Given the description of an element on the screen output the (x, y) to click on. 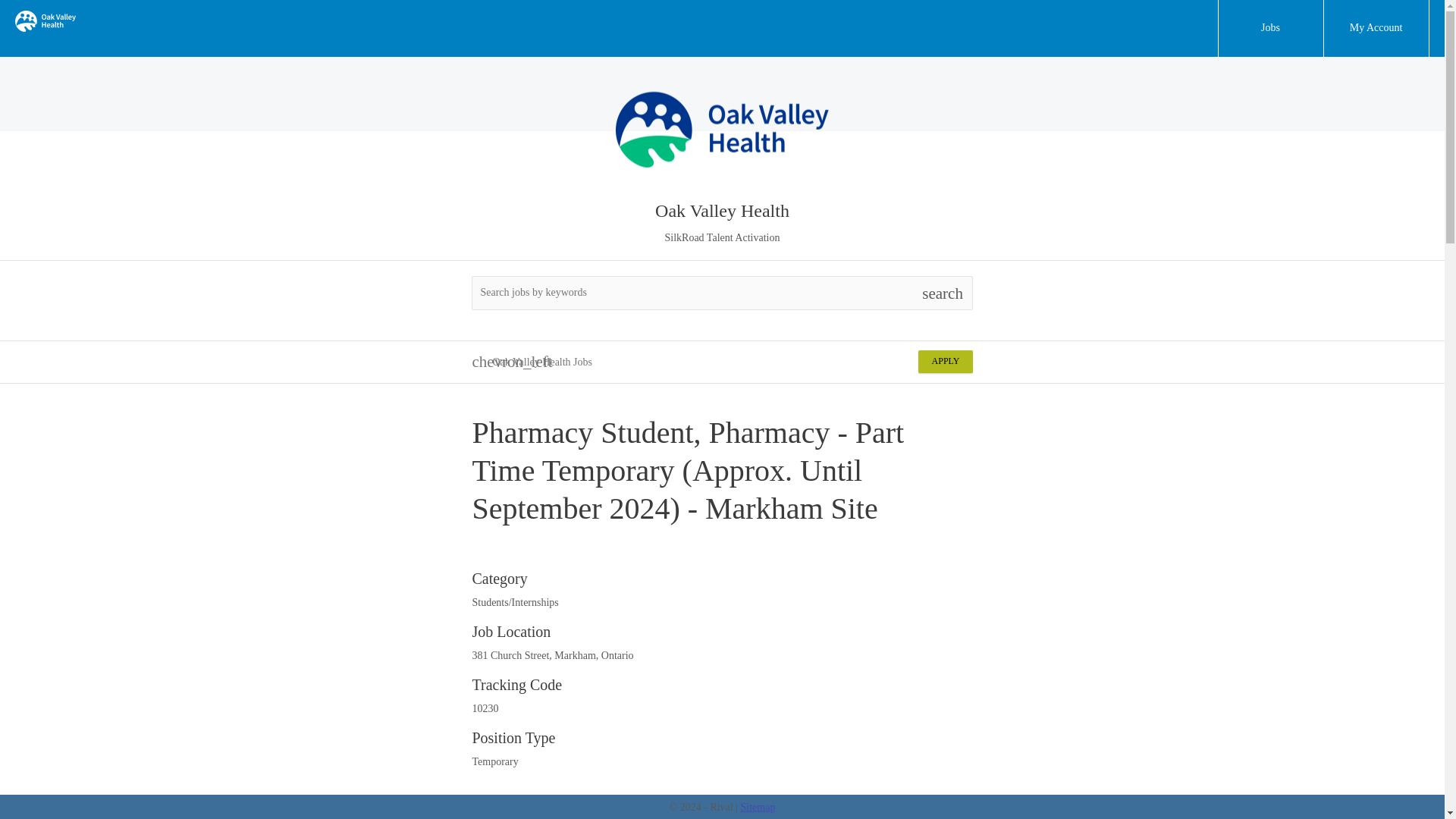
Sitemap (758, 806)
My Account (1376, 28)
Jobs (1270, 28)
APPLY (945, 361)
